Given the description of an element on the screen output the (x, y) to click on. 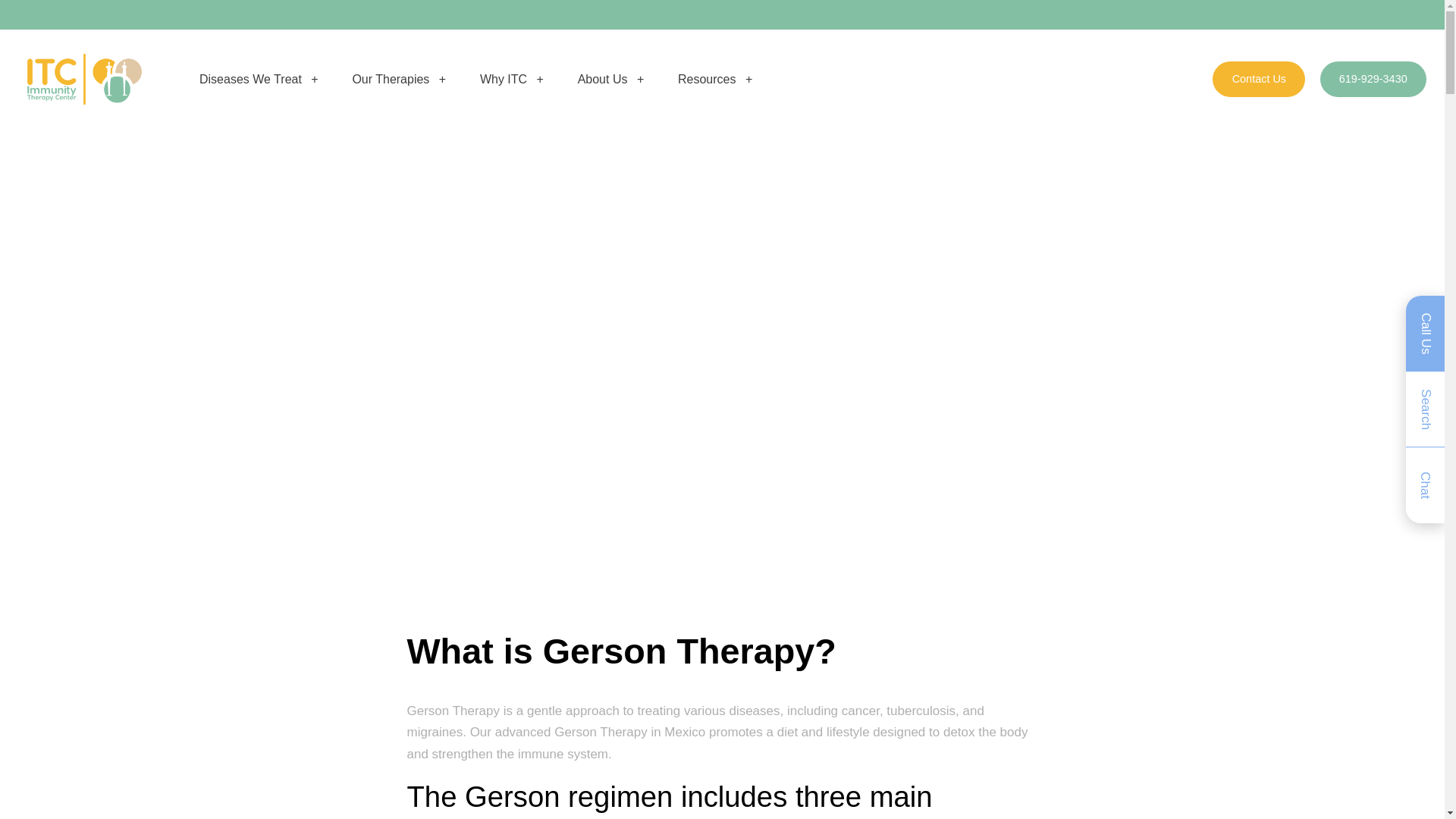
Diseases We Treat (258, 78)
619-929-3430 (1373, 78)
About Us (611, 78)
Contact Us (1258, 78)
Why ITC (511, 78)
Our Therapies (398, 78)
